Given the description of an element on the screen output the (x, y) to click on. 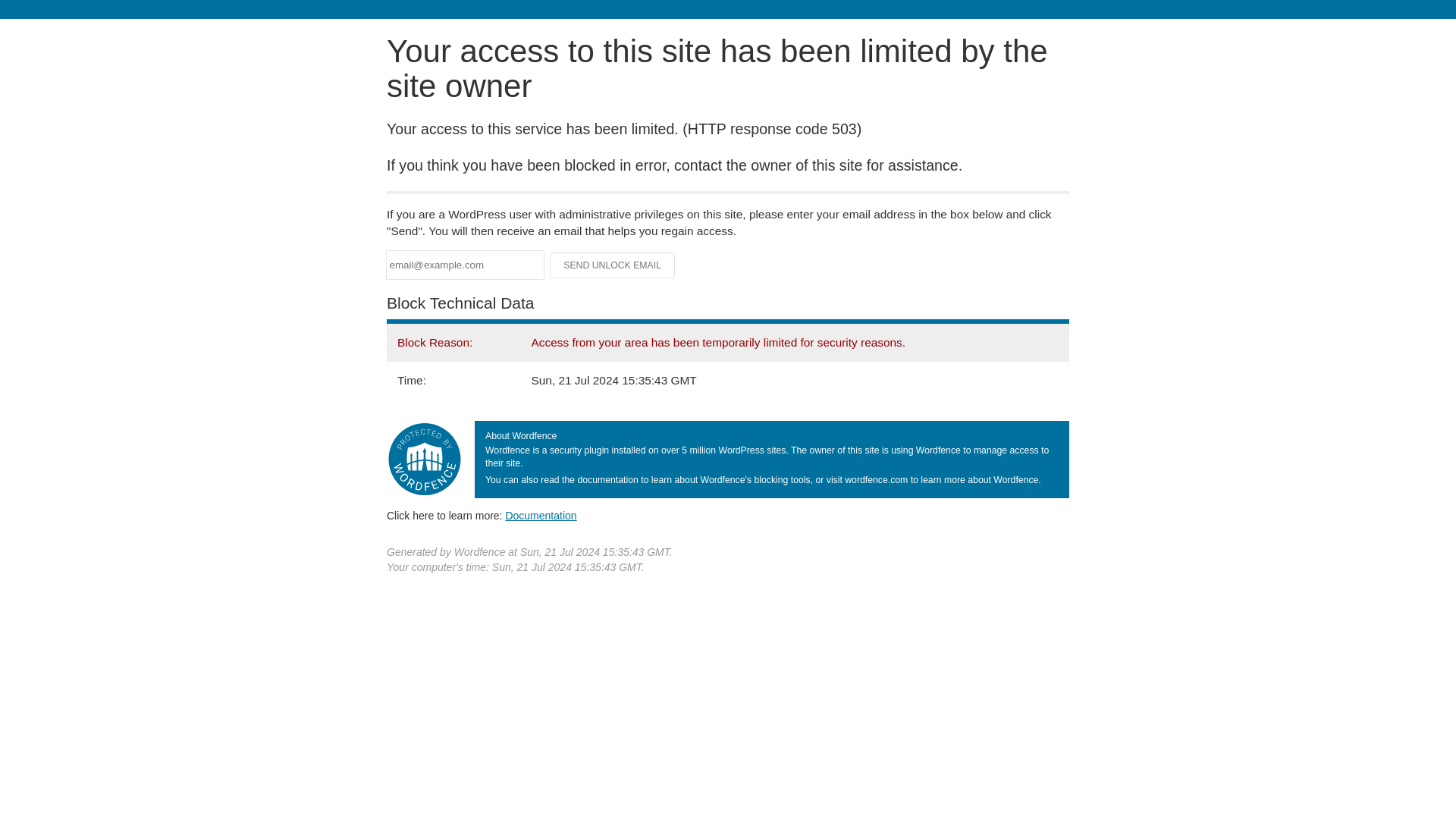
Send Unlock Email (612, 265)
Send Unlock Email (612, 265)
Documentation (540, 515)
